Given the description of an element on the screen output the (x, y) to click on. 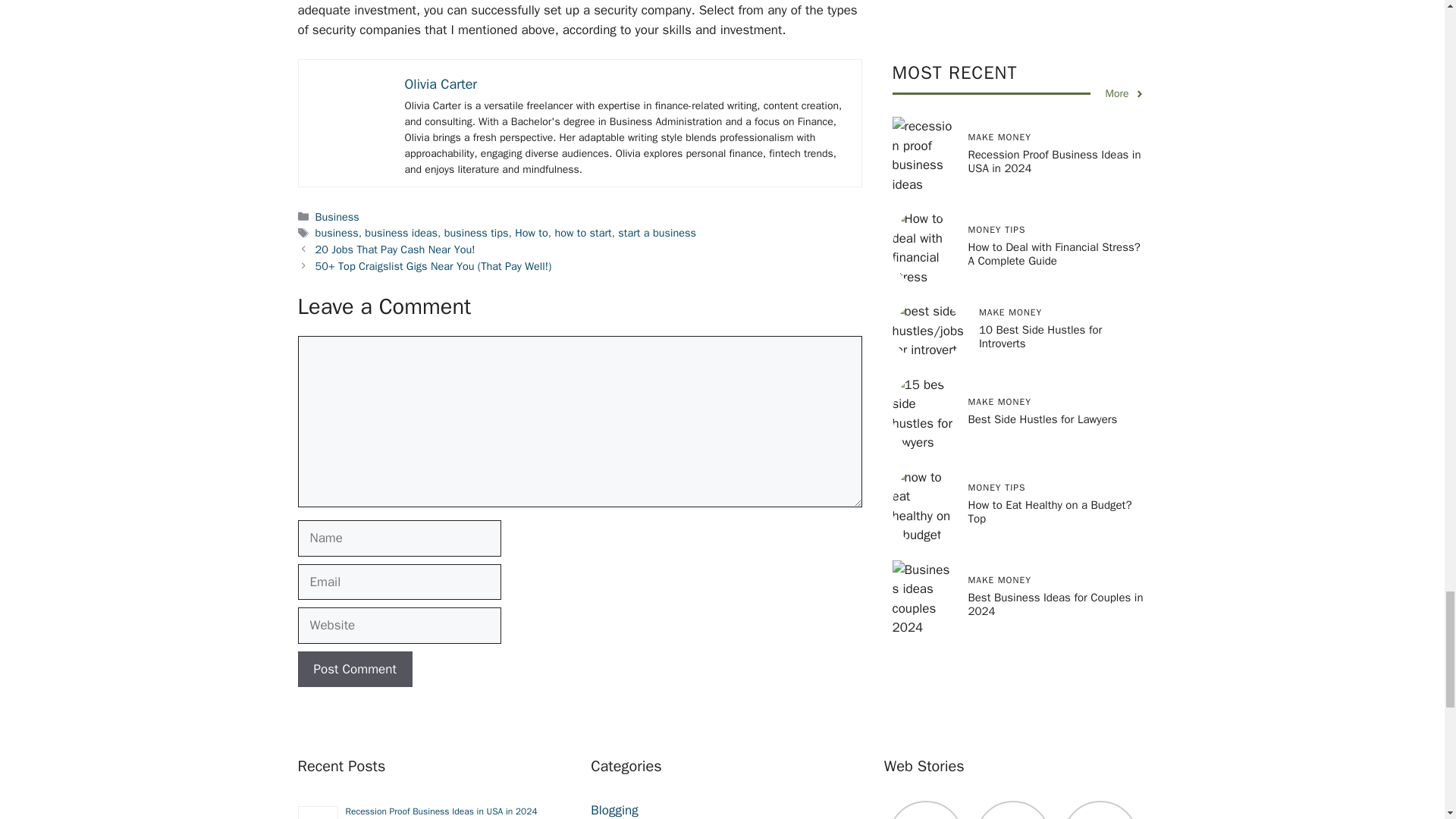
20 Jobs That Pay Cash Near You! (395, 249)
how to start (582, 232)
How to (531, 232)
Olivia Carter (440, 84)
start a business (656, 232)
business ideas (401, 232)
Business (337, 216)
business tips (476, 232)
Post Comment (354, 669)
Post Comment (354, 669)
